Given the description of an element on the screen output the (x, y) to click on. 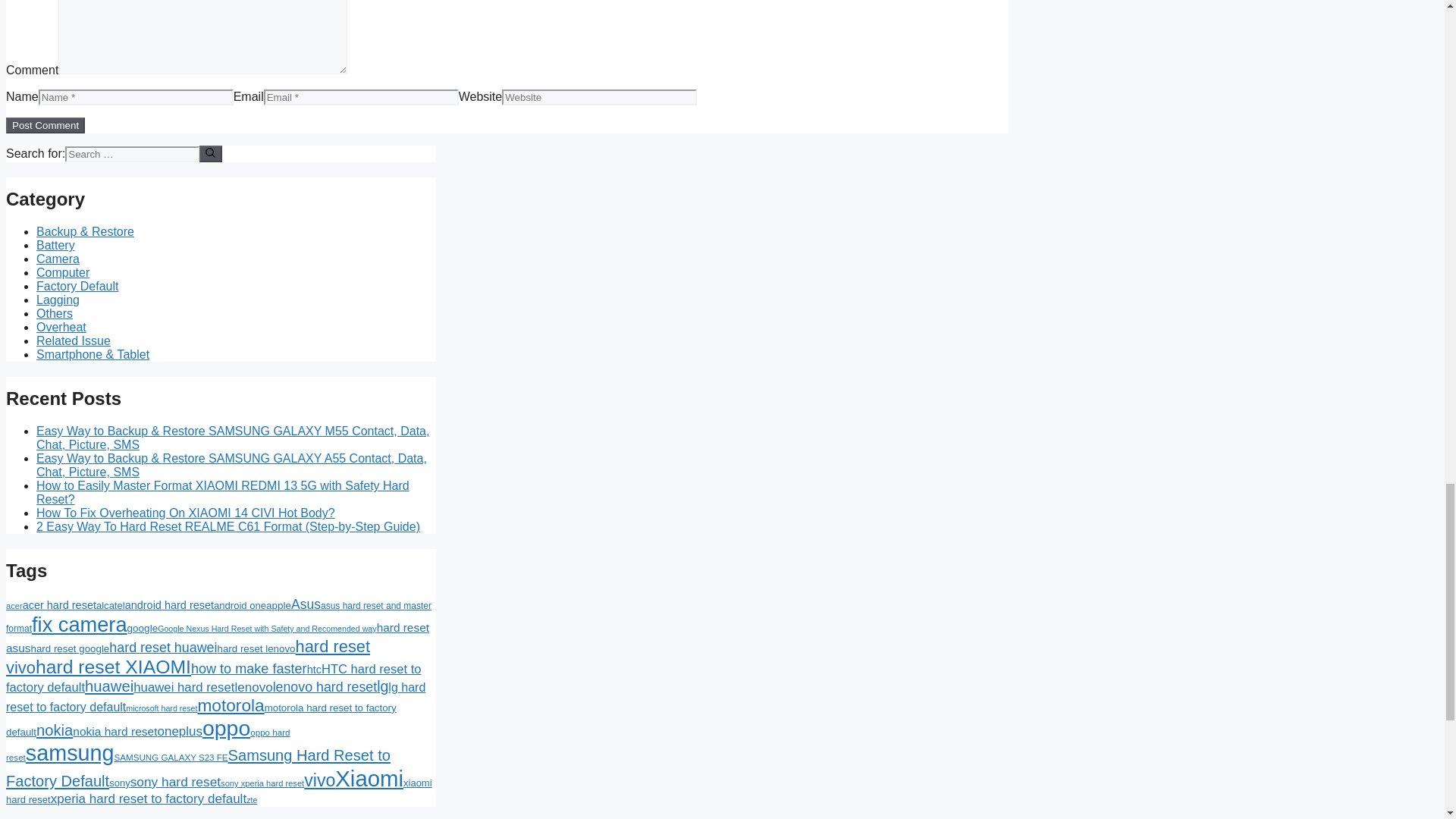
Post Comment (44, 125)
Post Comment (44, 125)
Search for: (132, 154)
Battery (55, 245)
